Given the description of an element on the screen output the (x, y) to click on. 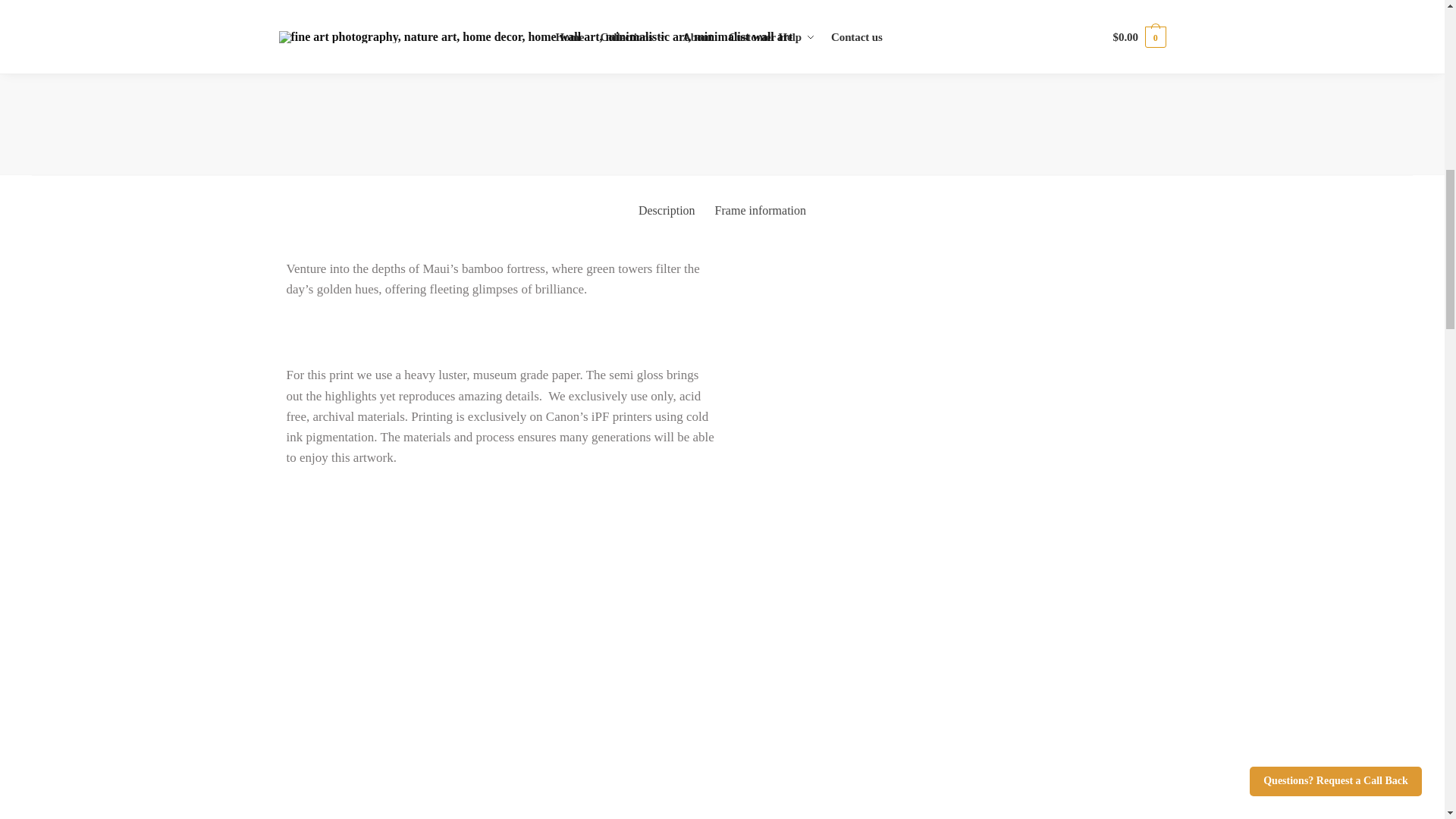
Description (666, 210)
Frame information (759, 210)
